Given the description of an element on the screen output the (x, y) to click on. 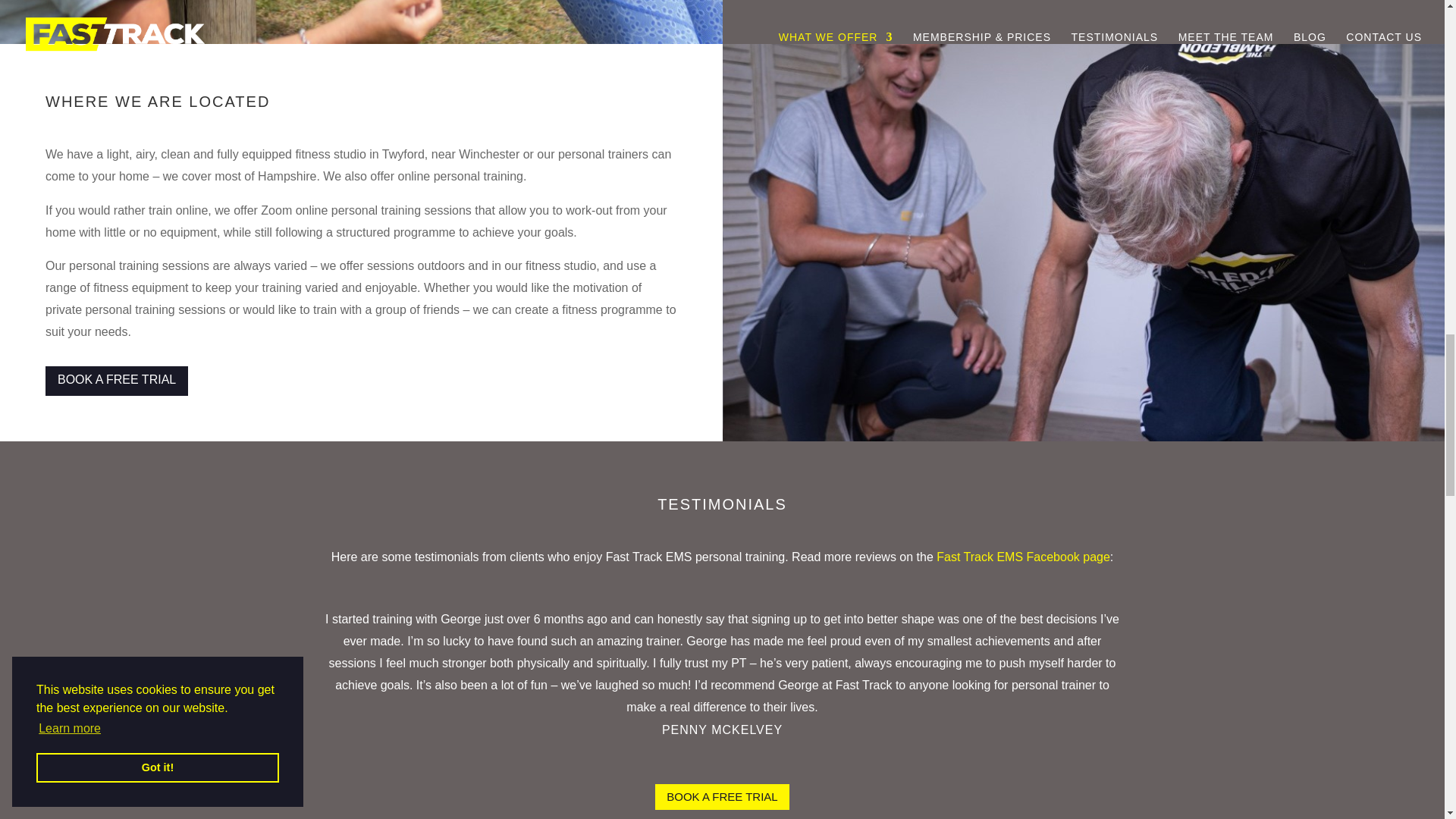
BOOK A FREE TRIAL (116, 380)
Fast Track EMS Facebook page (1022, 556)
BOOK A FREE TRIAL (722, 796)
